Given the description of an element on the screen output the (x, y) to click on. 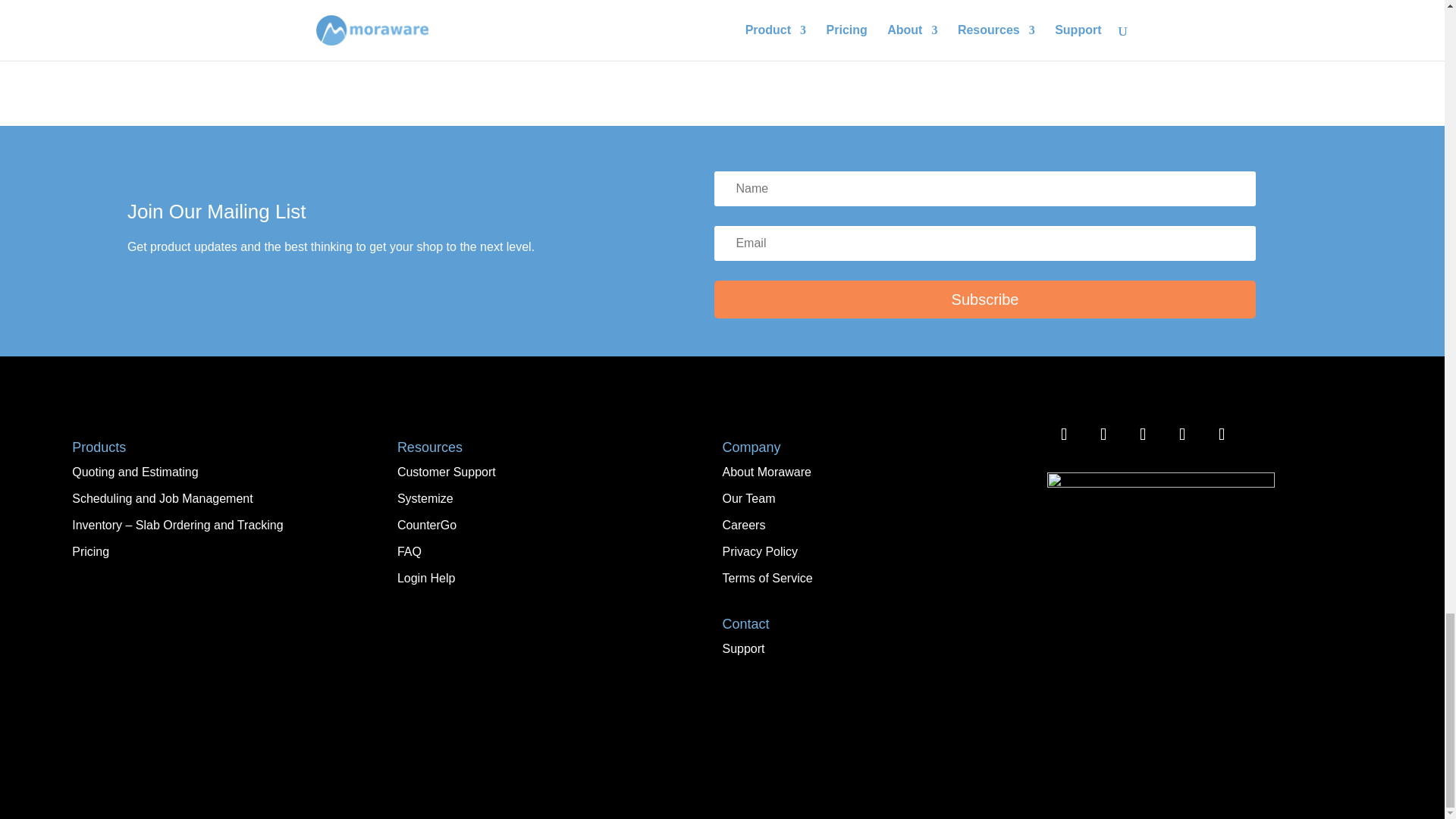
Follow on LinkedIn (1182, 434)
Follow on Facebook (1063, 434)
Follow on Instagram (1102, 434)
Follow on X (1141, 434)
Follow on Youtube (1222, 434)
